Given the description of an element on the screen output the (x, y) to click on. 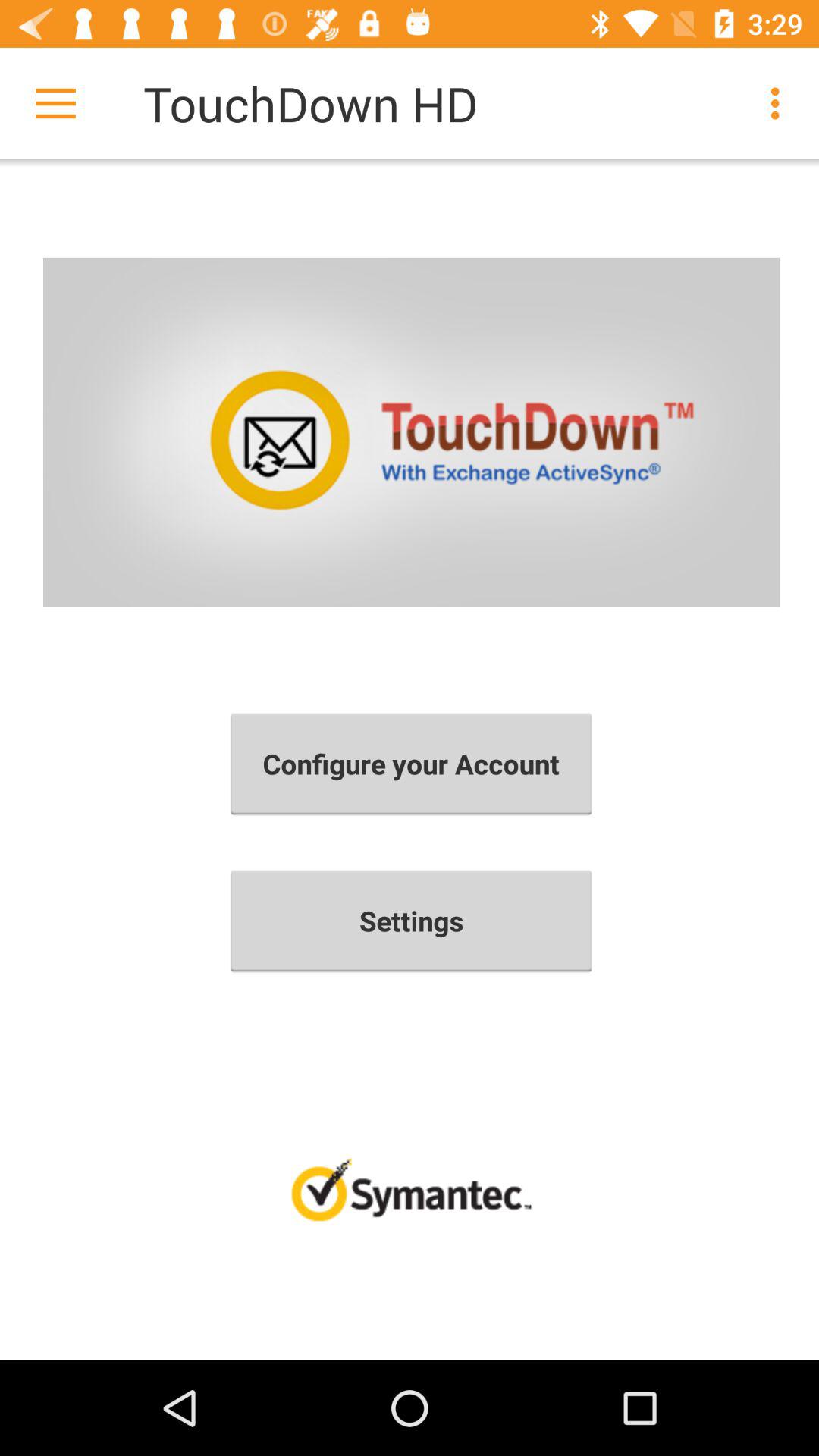
swipe until the configure your account item (410, 763)
